Given the description of an element on the screen output the (x, y) to click on. 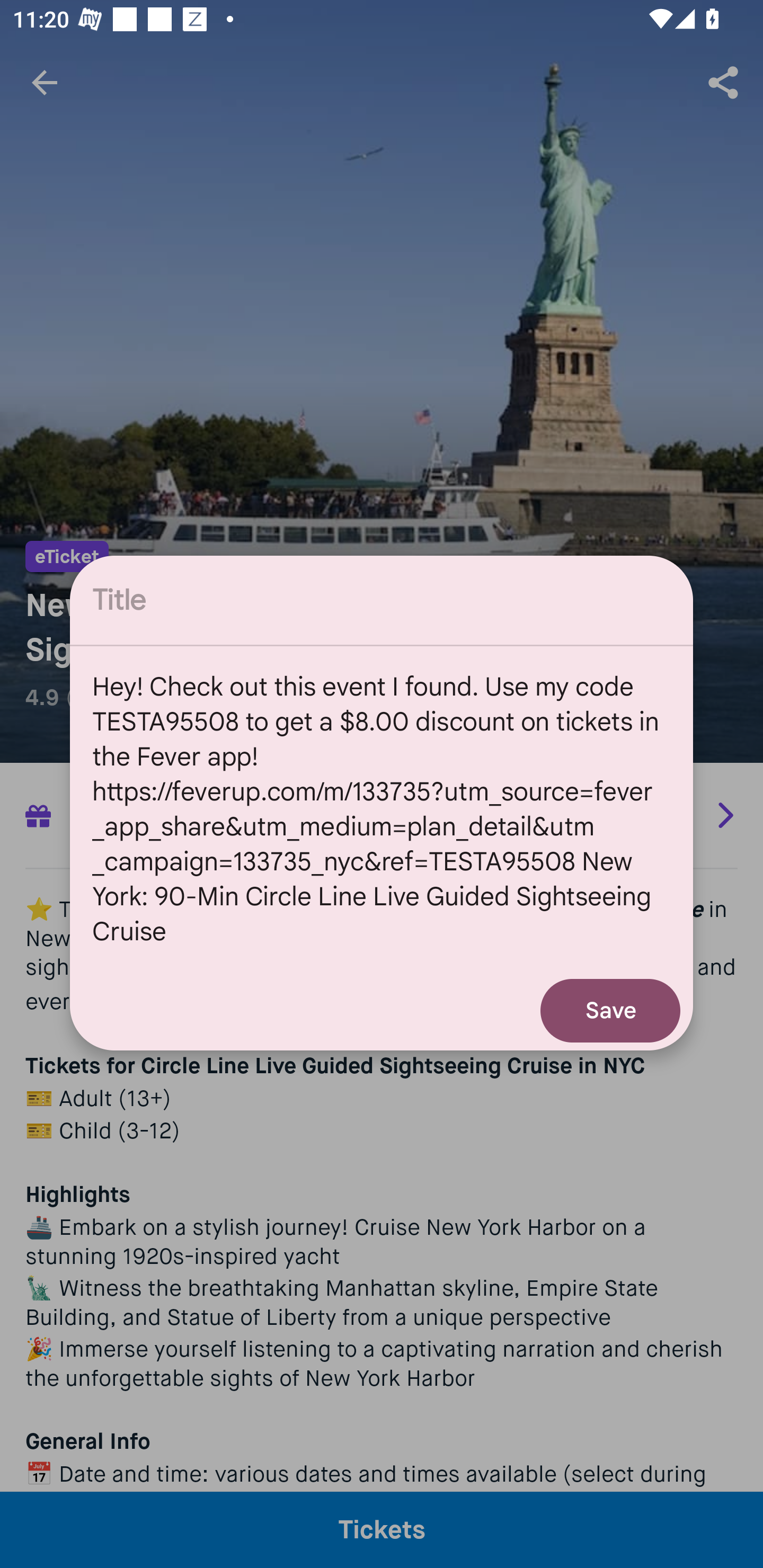
Title (381, 599)
Save (610, 1010)
